Given the description of an element on the screen output the (x, y) to click on. 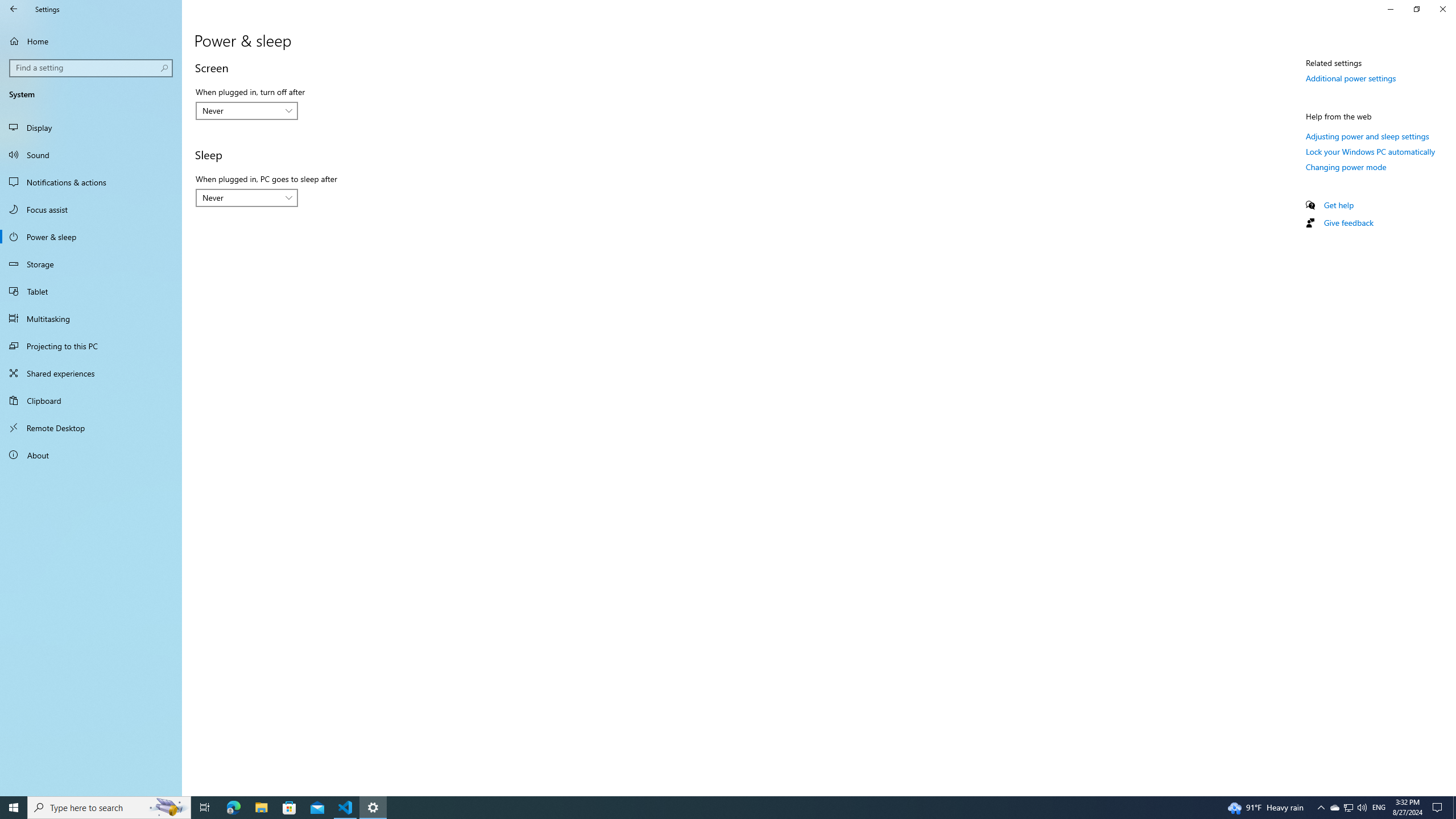
Get help (1338, 204)
